Given the description of an element on the screen output the (x, y) to click on. 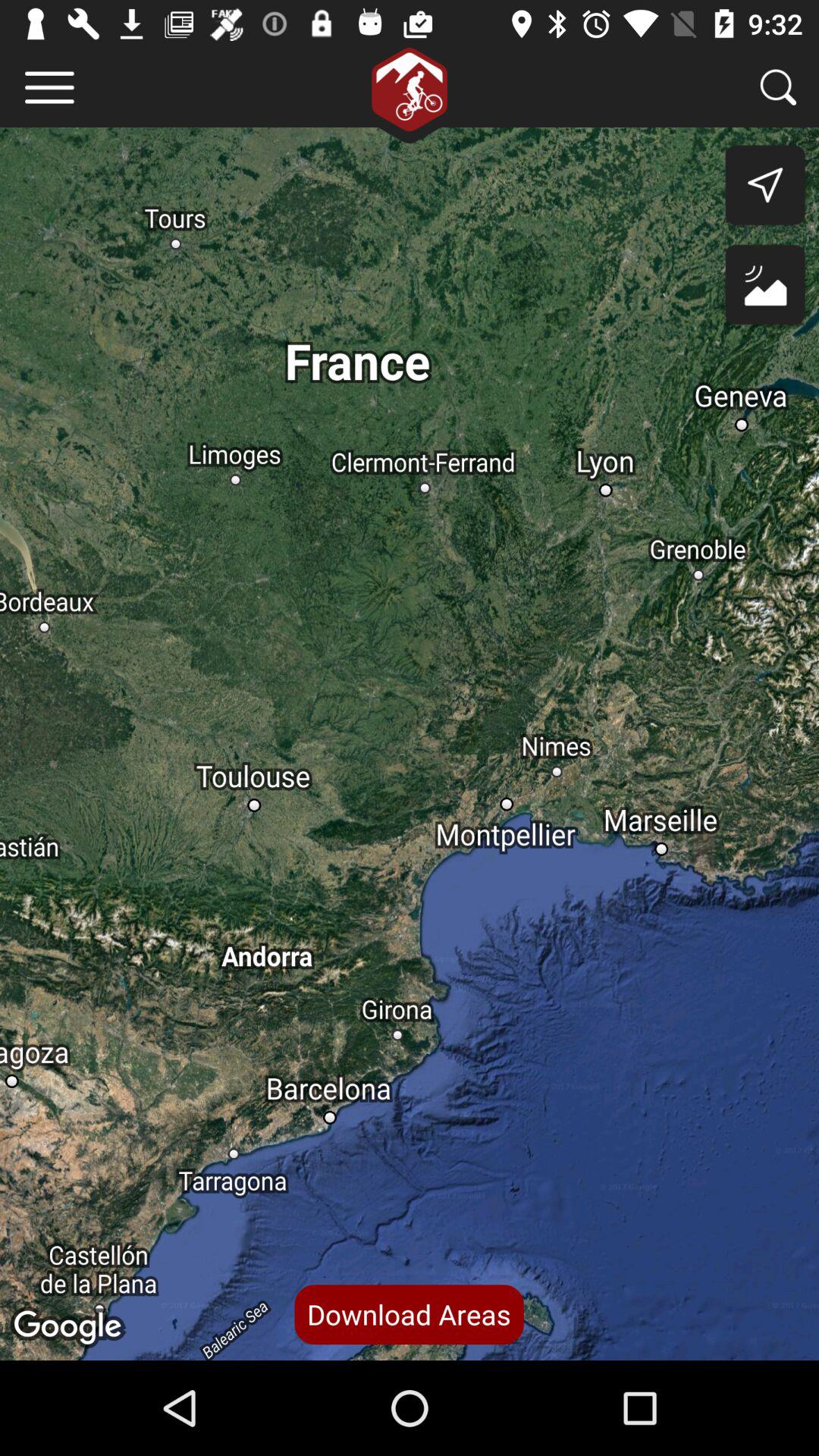
flip until download areas (408, 1314)
